Given the description of an element on the screen output the (x, y) to click on. 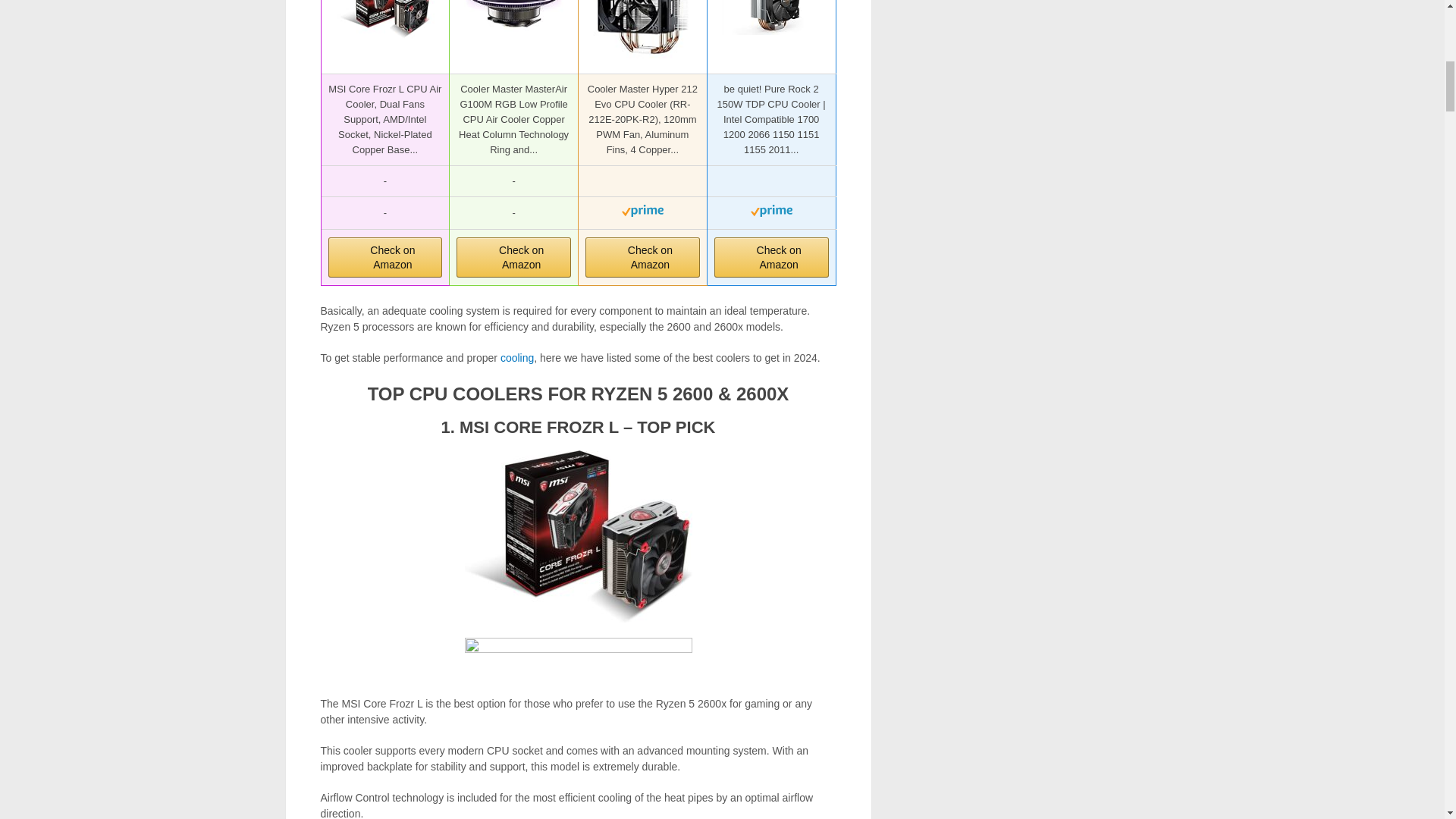
Reviews on Amazon (771, 182)
Check on Amazon (642, 257)
Amazon Prime (771, 213)
cooling (517, 357)
Check on Amazon (513, 257)
Check on Amazon (771, 257)
Check on Amazon (384, 257)
Check on Amazon (771, 257)
Check on Amazon (384, 257)
Amazon Prime (642, 213)
Check on Amazon (513, 257)
Reviews on Amazon (641, 182)
Check on Amazon (642, 257)
